Given the description of an element on the screen output the (x, y) to click on. 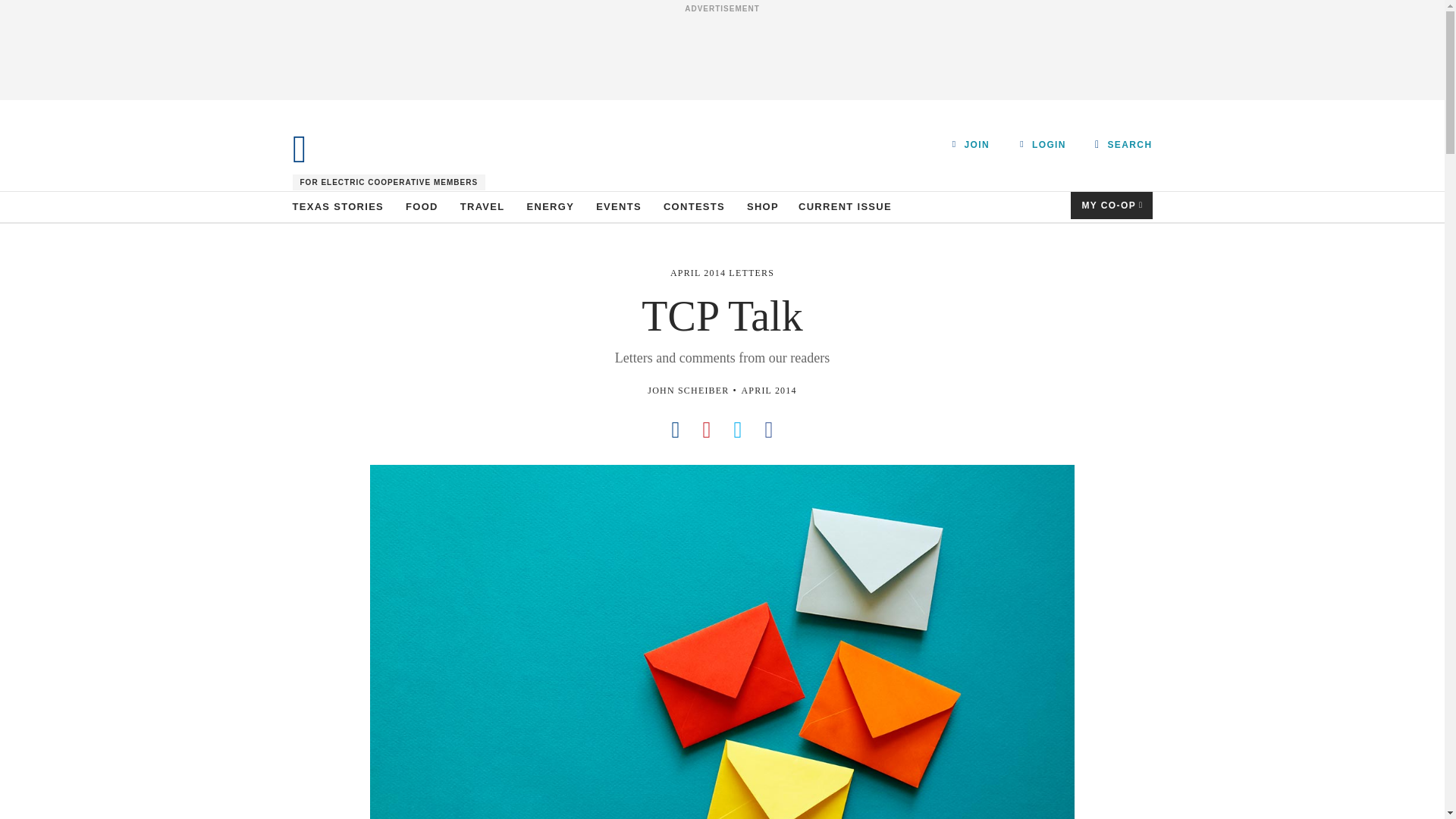
EVENTS (618, 206)
TRAVEL (482, 206)
ENERGY (551, 206)
JOIN (970, 144)
FOOD (422, 206)
MY CO-OP (1111, 205)
CURRENT ISSUE (844, 206)
LOGIN (1042, 144)
CONTESTS (694, 206)
SHOP (762, 206)
